Given the description of an element on the screen output the (x, y) to click on. 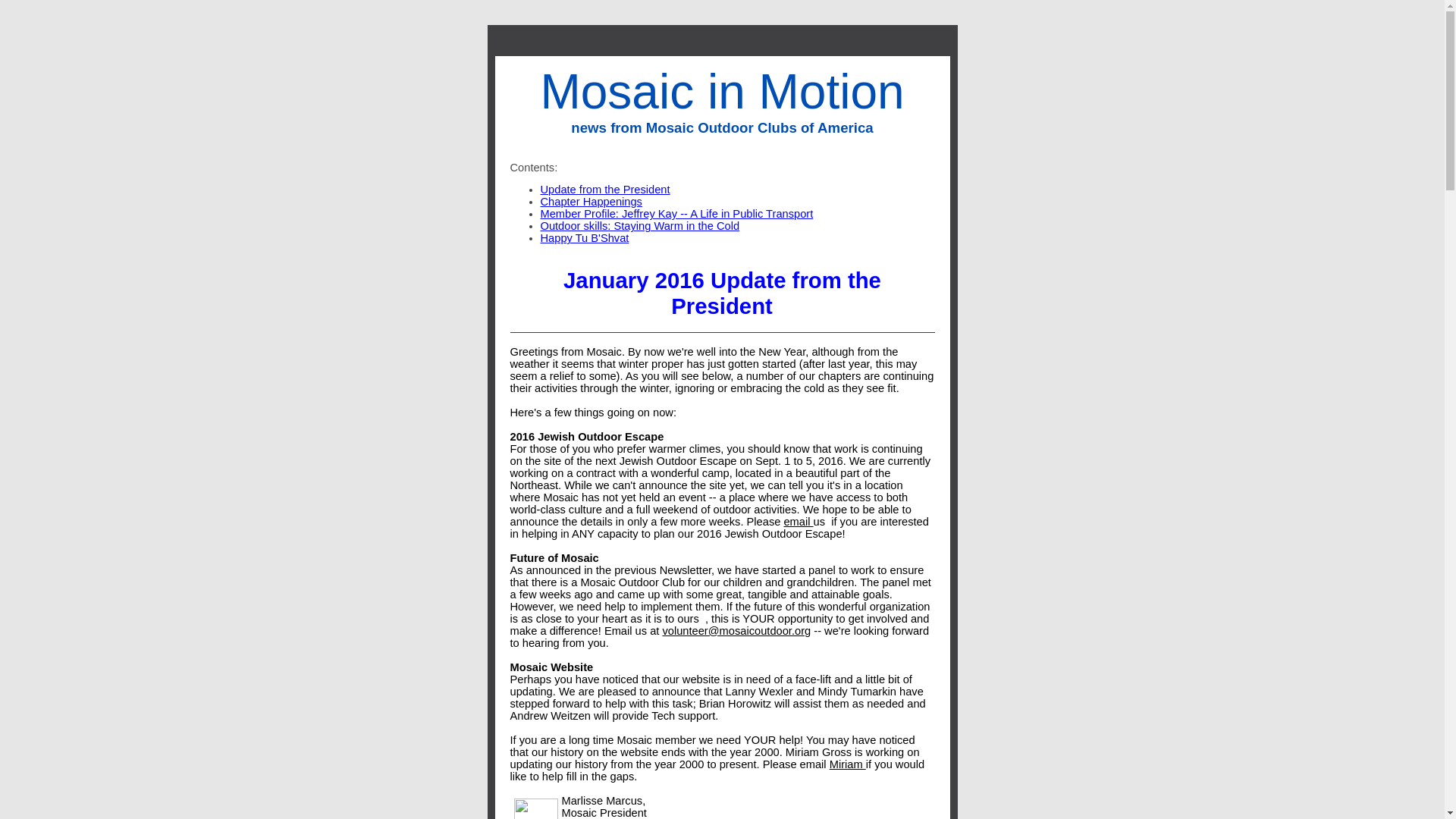
Miriam (847, 764)
Member Profile: Jeffrey Kay -- A Life in Public Transport (676, 214)
Outdoor skills: Staying Warm in the Cold (639, 225)
email (797, 521)
Chapter Happenings (591, 201)
Happy Tu B'Shvat (584, 237)
Update from the President (604, 189)
